Given the description of an element on the screen output the (x, y) to click on. 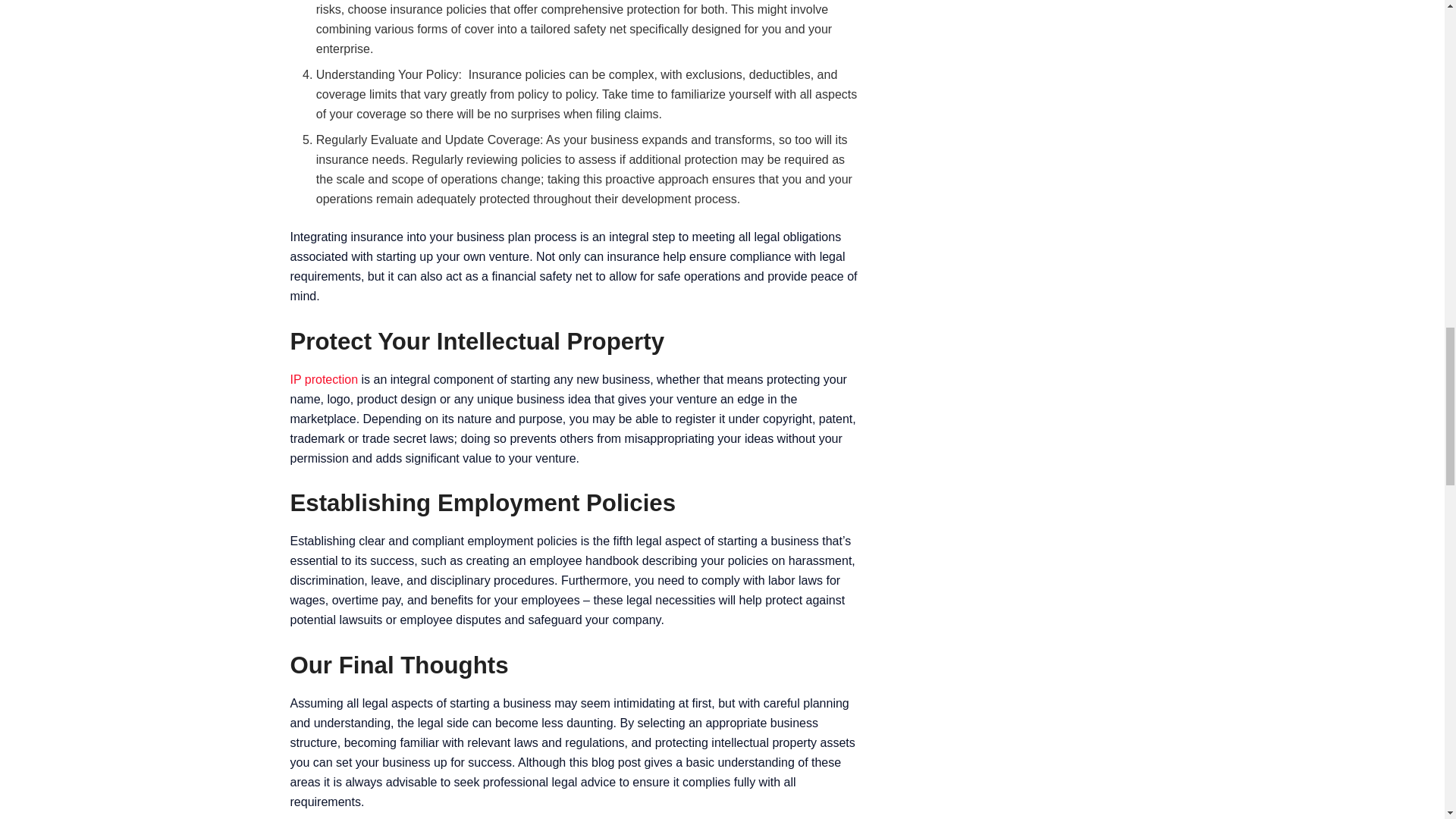
IP protection (323, 379)
